Given the description of an element on the screen output the (x, y) to click on. 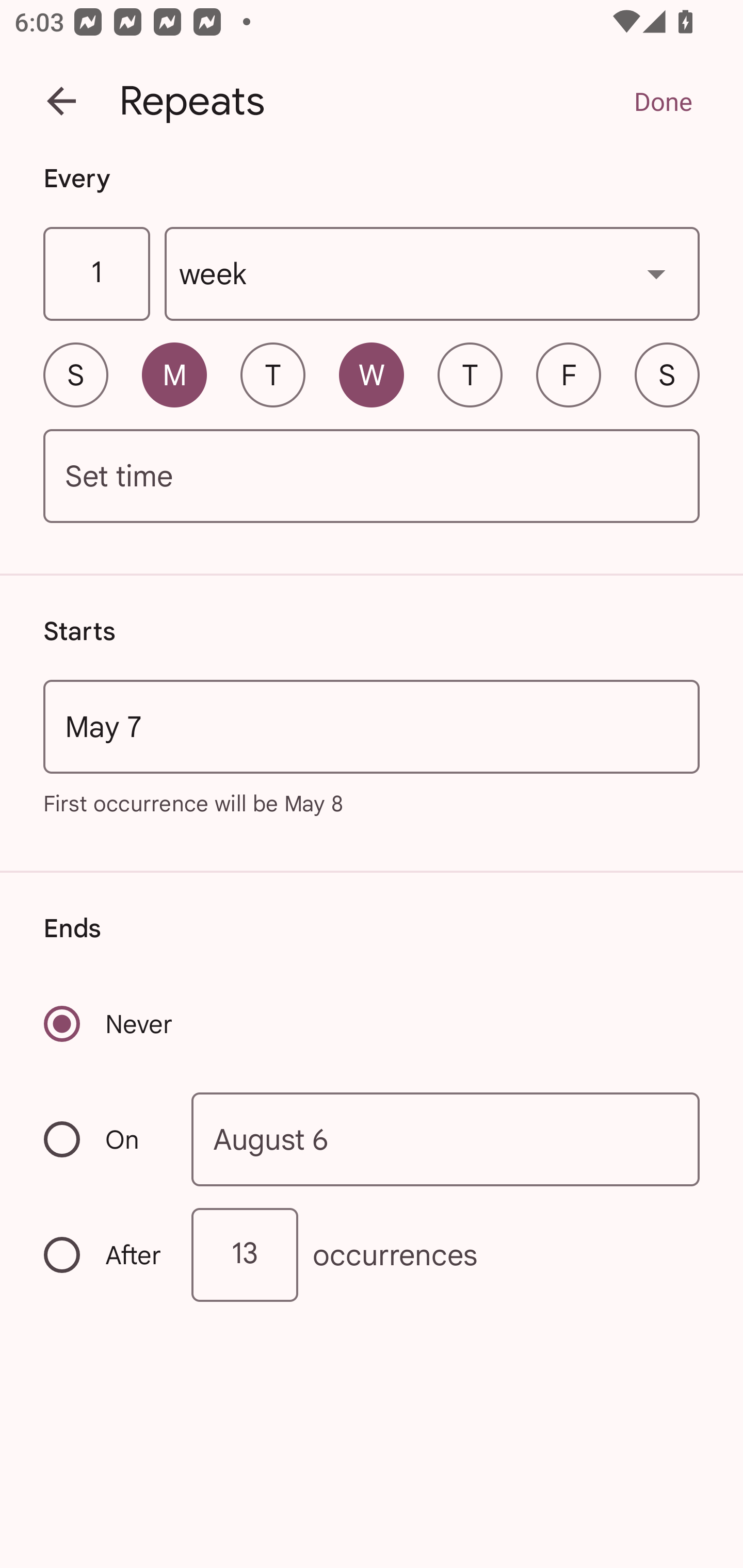
Back (61, 101)
Done (663, 101)
1 (96, 274)
week (431, 274)
Show dropdown menu (655, 273)
S Sunday (75, 374)
M Monday, selected (173, 374)
T Tuesday (272, 374)
W Wednesday, selected (371, 374)
T Thursday (469, 374)
F Friday (568, 374)
S Saturday (666, 374)
Set time (371, 476)
May 7 (371, 726)
Never Recurrence never ends (109, 1023)
August 6 (445, 1139)
On Recurrence ends on a specific date (104, 1138)
13 (244, 1254)
